Given the description of an element on the screen output the (x, y) to click on. 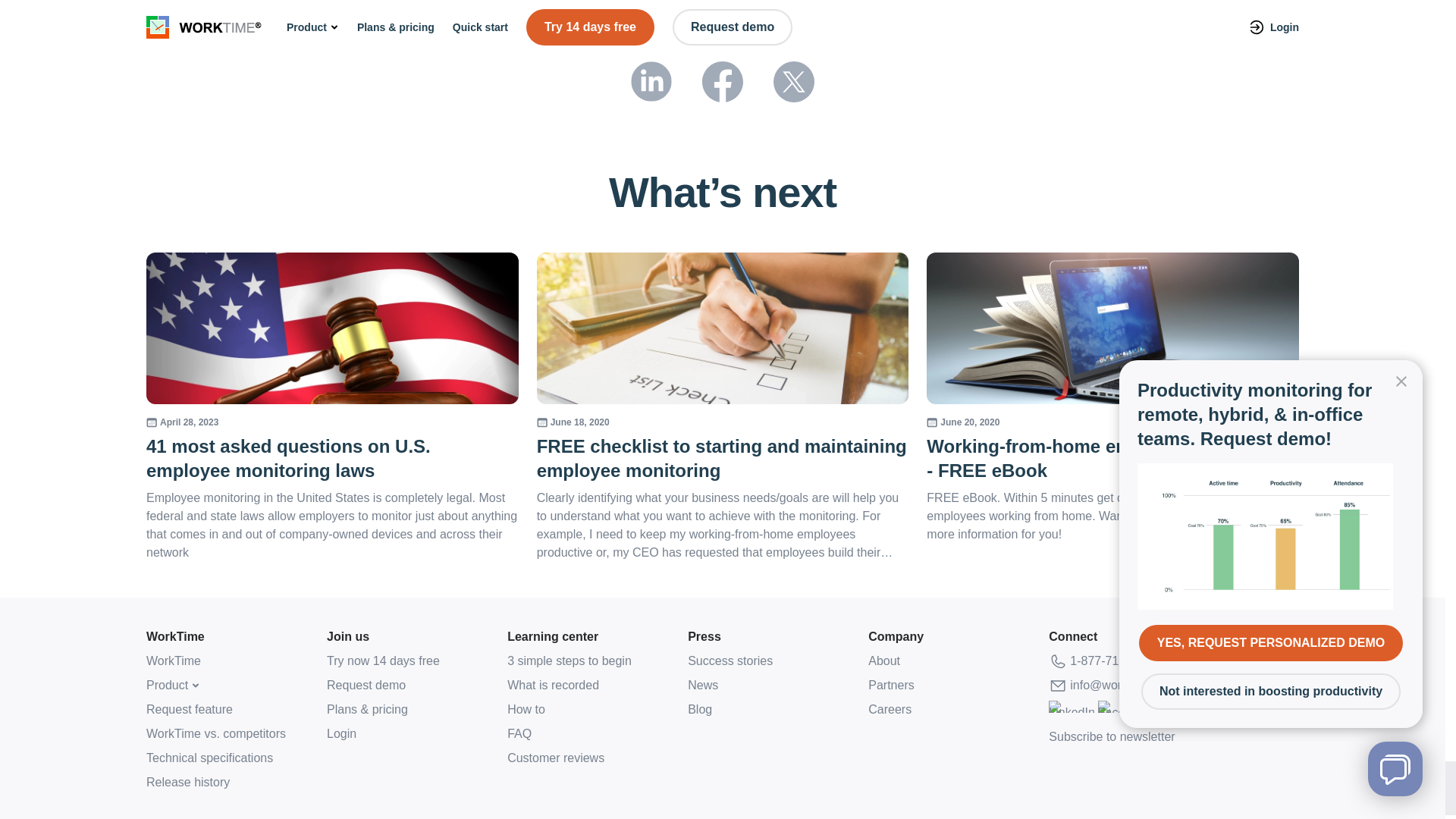
Facebook (1124, 711)
Twitter (1228, 711)
Instagram (1181, 711)
YouTuBe (1273, 711)
LinkedIn (1071, 711)
